Given the description of an element on the screen output the (x, y) to click on. 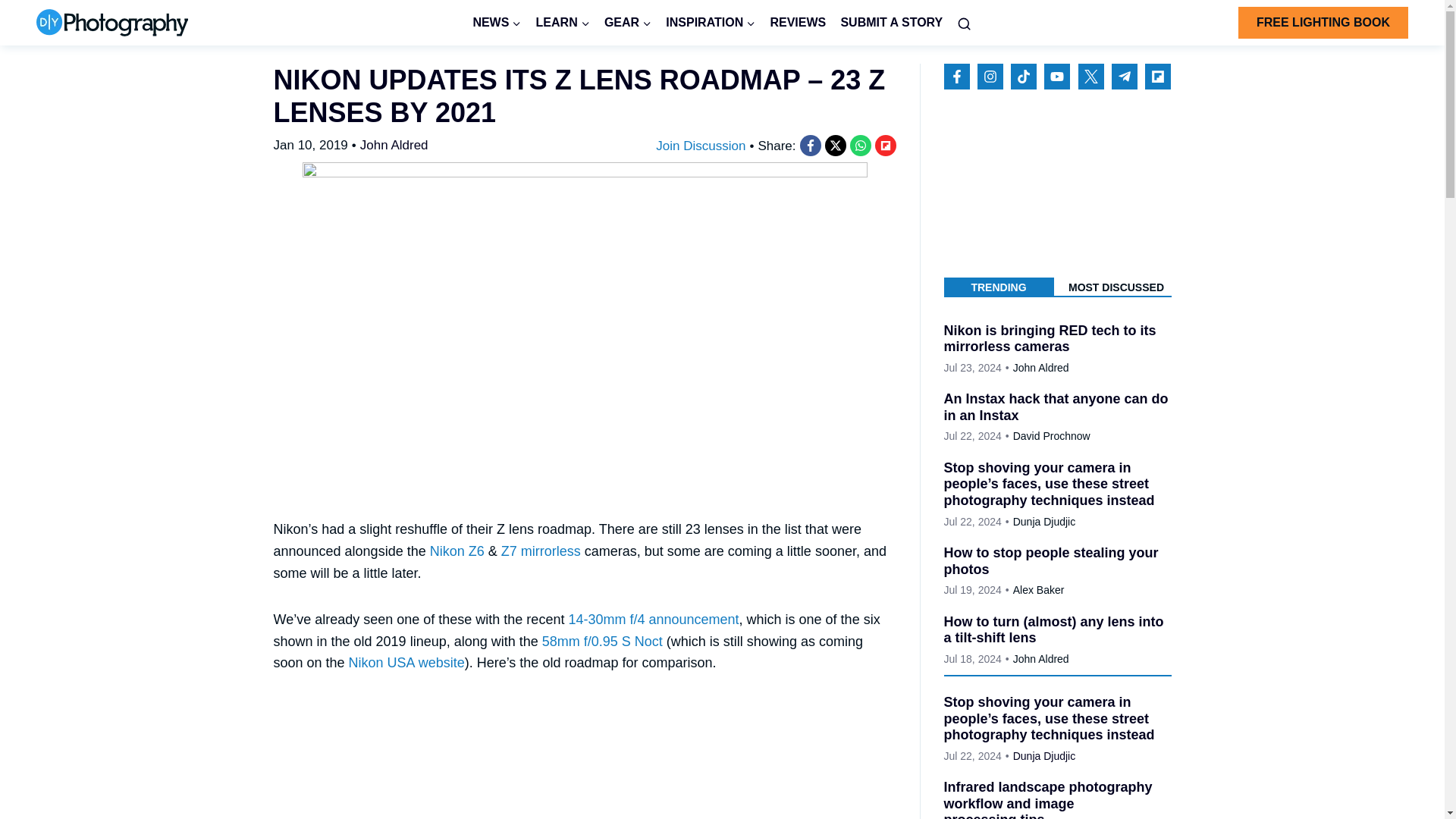
NEWS (496, 22)
